Given the description of an element on the screen output the (x, y) to click on. 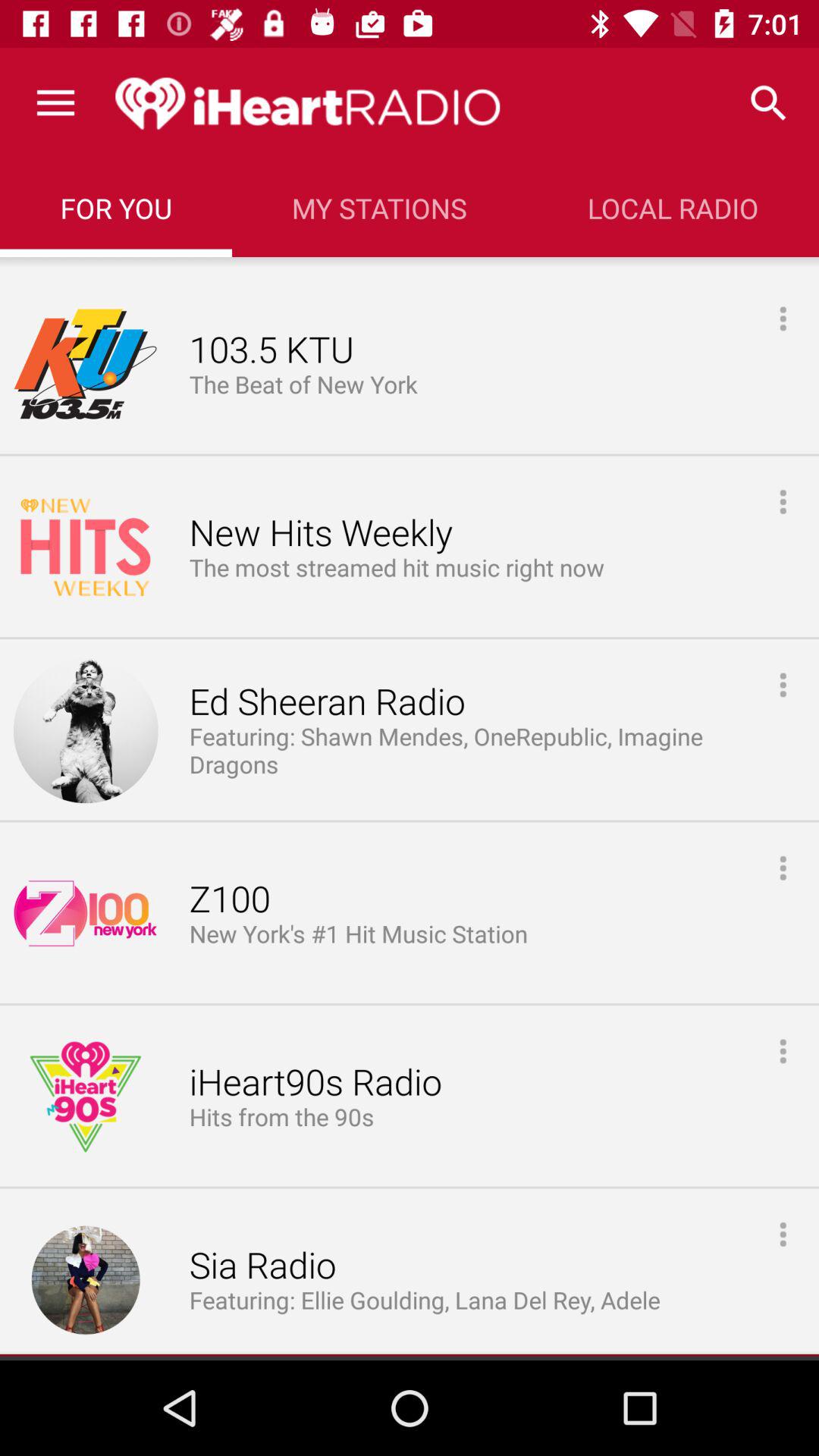
select the the beat of item (306, 385)
